Given the description of an element on the screen output the (x, y) to click on. 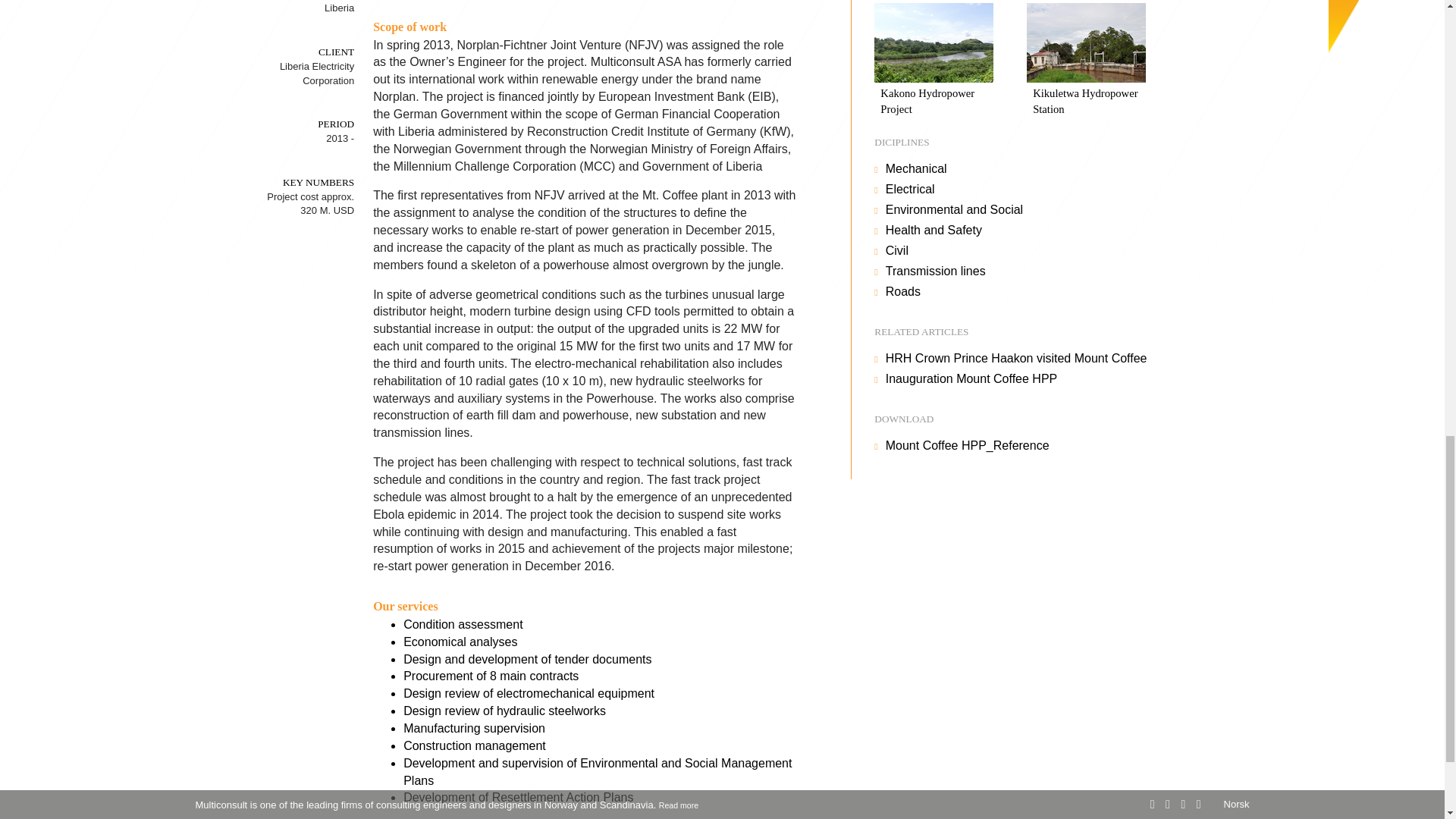
Kakono Hydropower Project (933, 61)
Kikuletwa Hydropower Station (1085, 61)
